Given the description of an element on the screen output the (x, y) to click on. 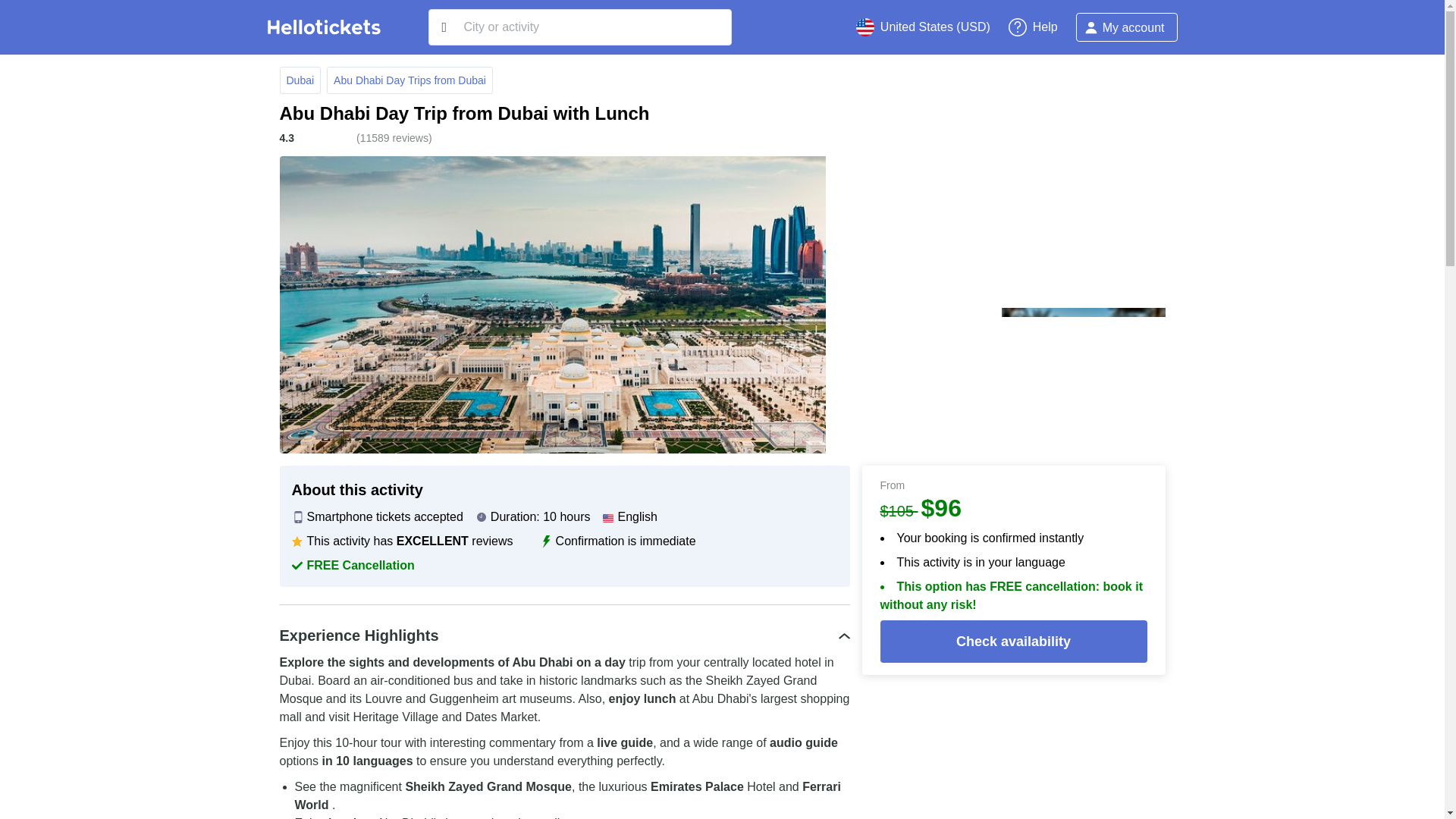
Abu Dhabi Day Trips from Dubai (409, 79)
My account (1126, 27)
Dubai (300, 79)
Check availability (1013, 640)
Help (1032, 27)
